Given the description of an element on the screen output the (x, y) to click on. 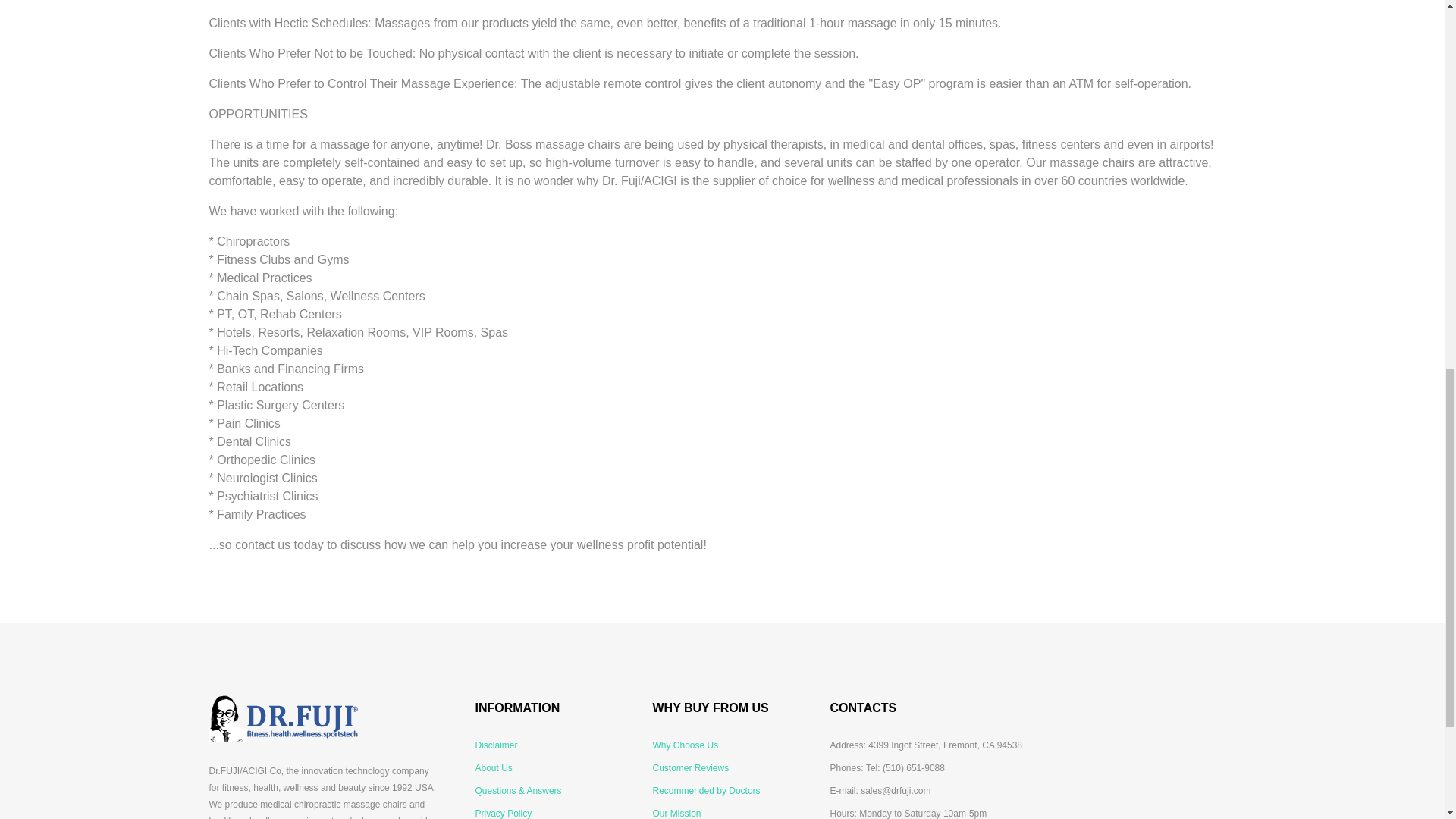
Customer Reviews (690, 768)
Recommended by Doctors (706, 791)
Why Choose Us (684, 745)
Disclaimer (495, 745)
About Us (493, 768)
Privacy Policy (502, 811)
